Given the description of an element on the screen output the (x, y) to click on. 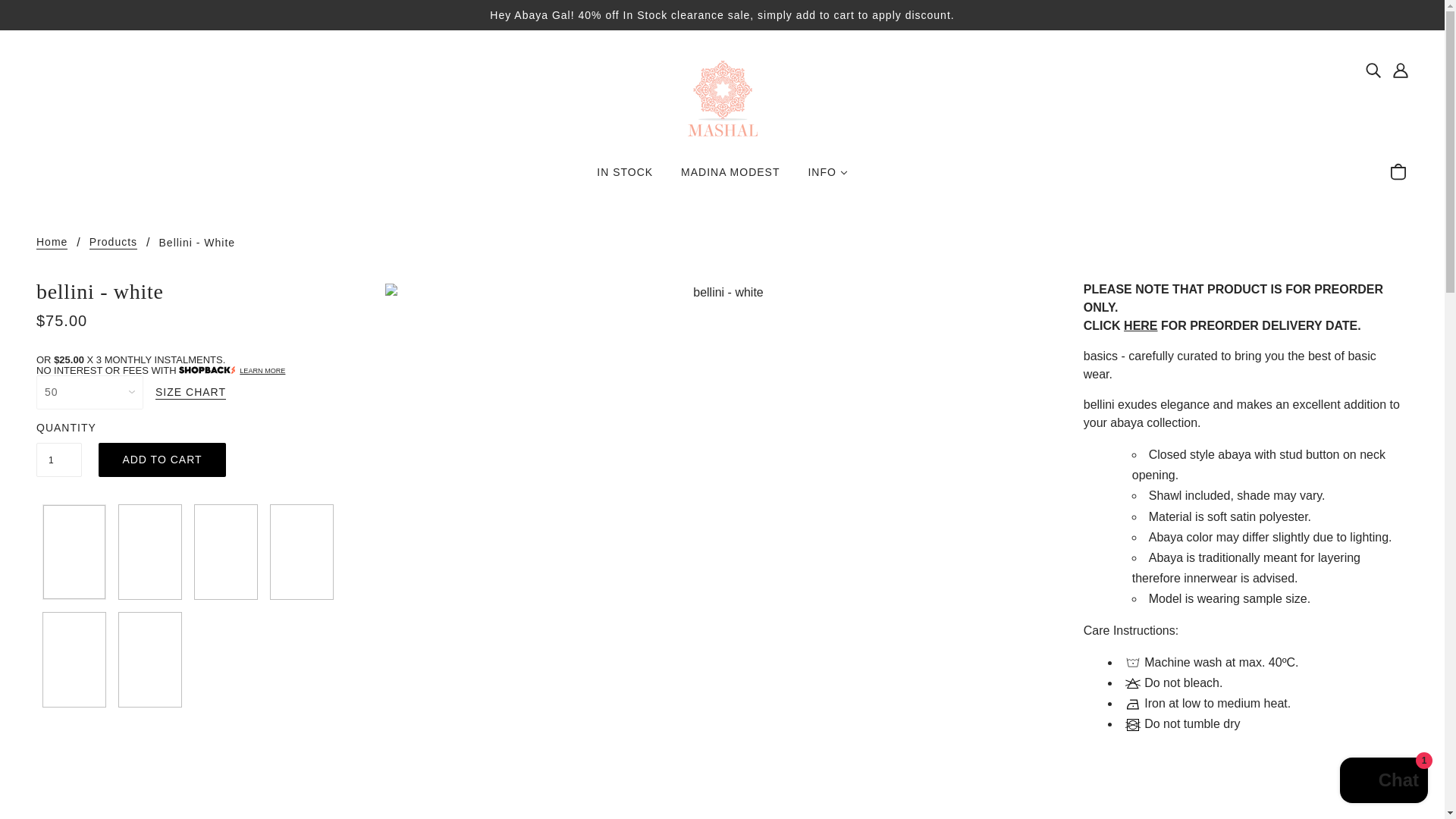
IN STOCK (625, 177)
MASHAL  (722, 97)
INFO (826, 177)
HERE (1140, 325)
MADINA MODEST (730, 177)
1 (58, 459)
Products (112, 242)
ADD TO CART (162, 459)
Preorder Guide (1140, 325)
Shopify online store chat (1383, 781)
SIZE CHART (190, 392)
Home (51, 242)
LEARN MORE (262, 370)
